Given the description of an element on the screen output the (x, y) to click on. 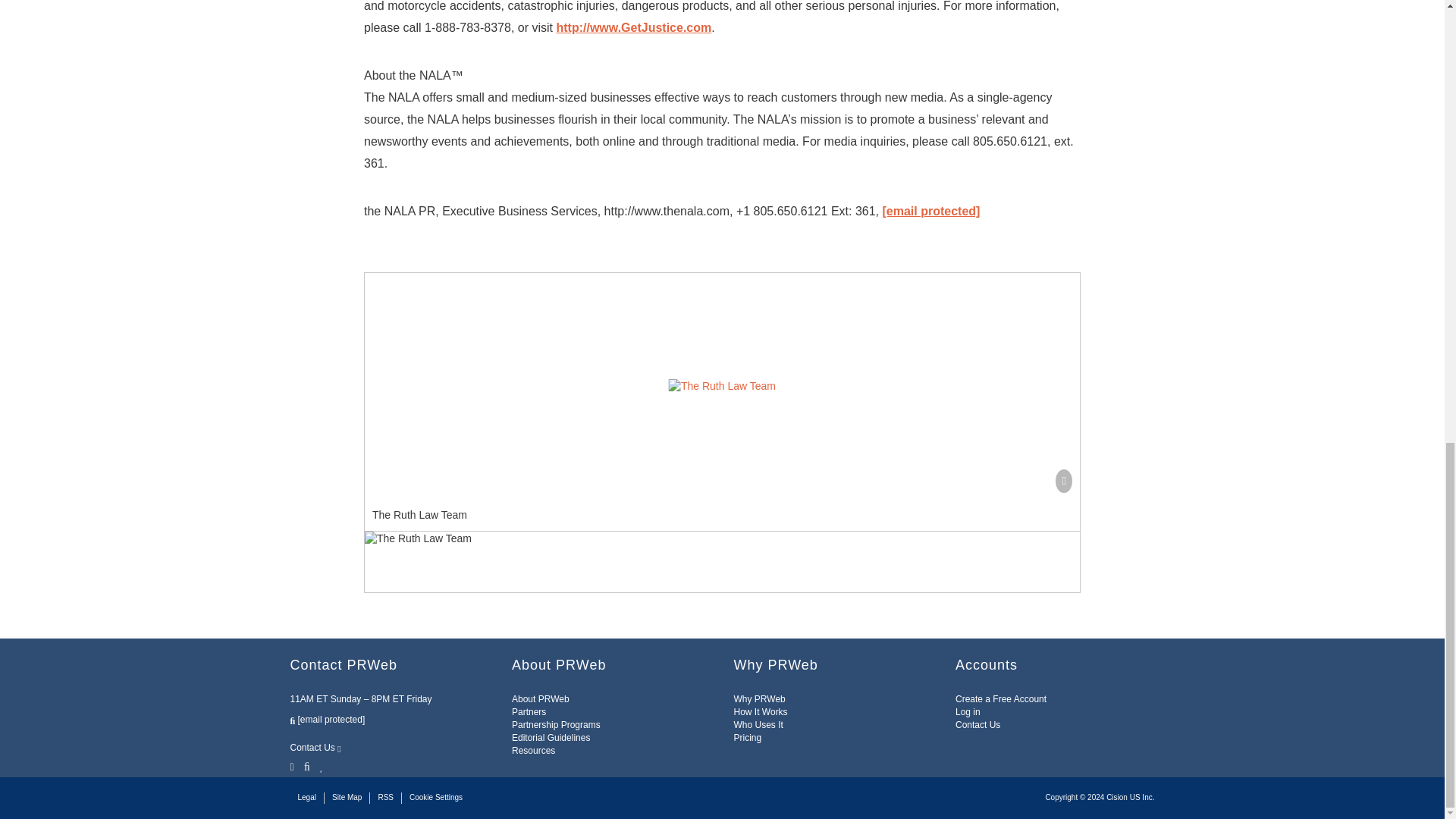
Partners (529, 711)
Resources (533, 750)
Editorial Guidelines (550, 737)
Partnership Programs (555, 724)
Facebook (306, 765)
About PRWeb (540, 698)
